Given the description of an element on the screen output the (x, y) to click on. 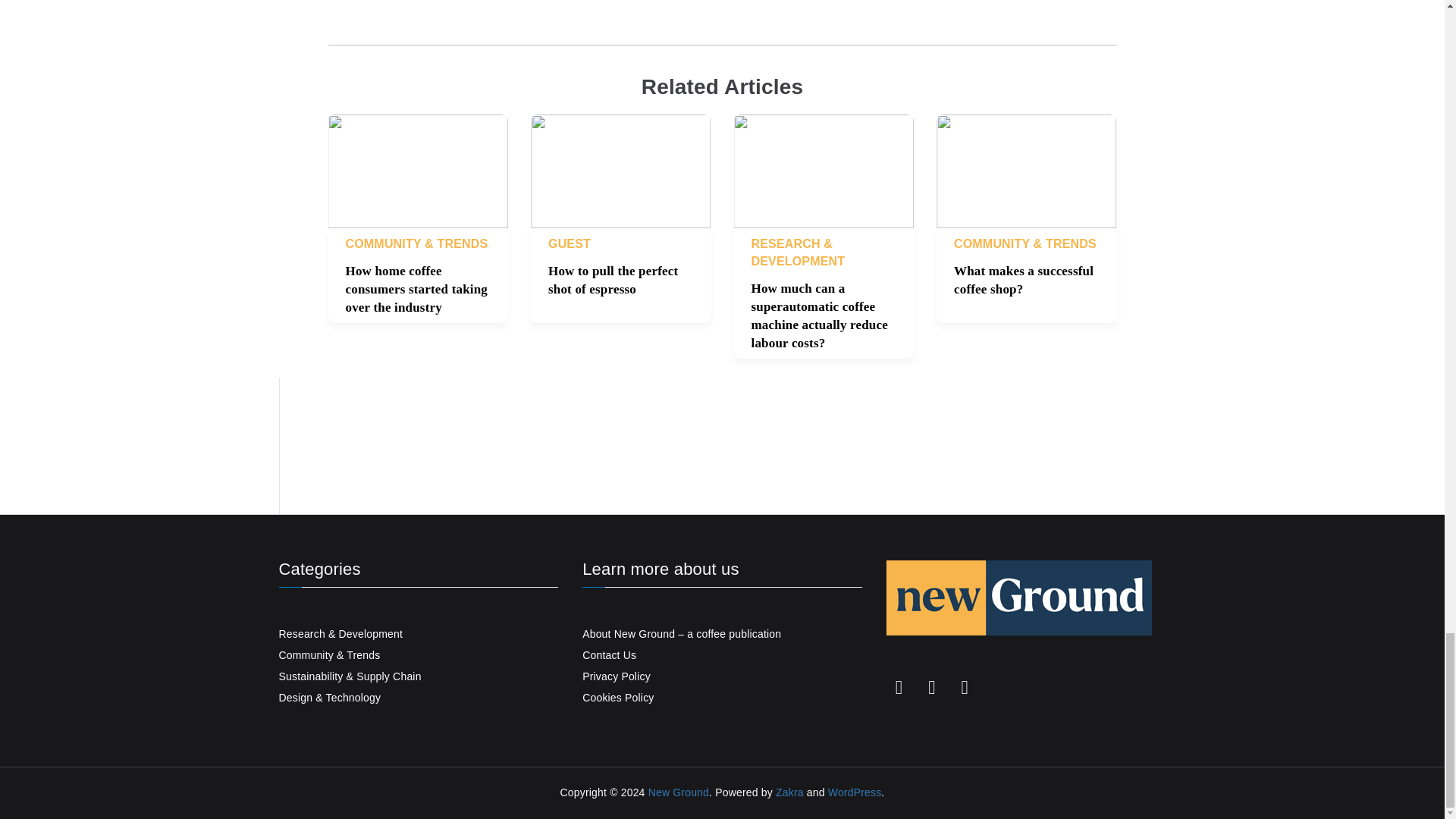
New Ground (678, 792)
WordPress (855, 792)
Zakra (789, 792)
